Given the description of an element on the screen output the (x, y) to click on. 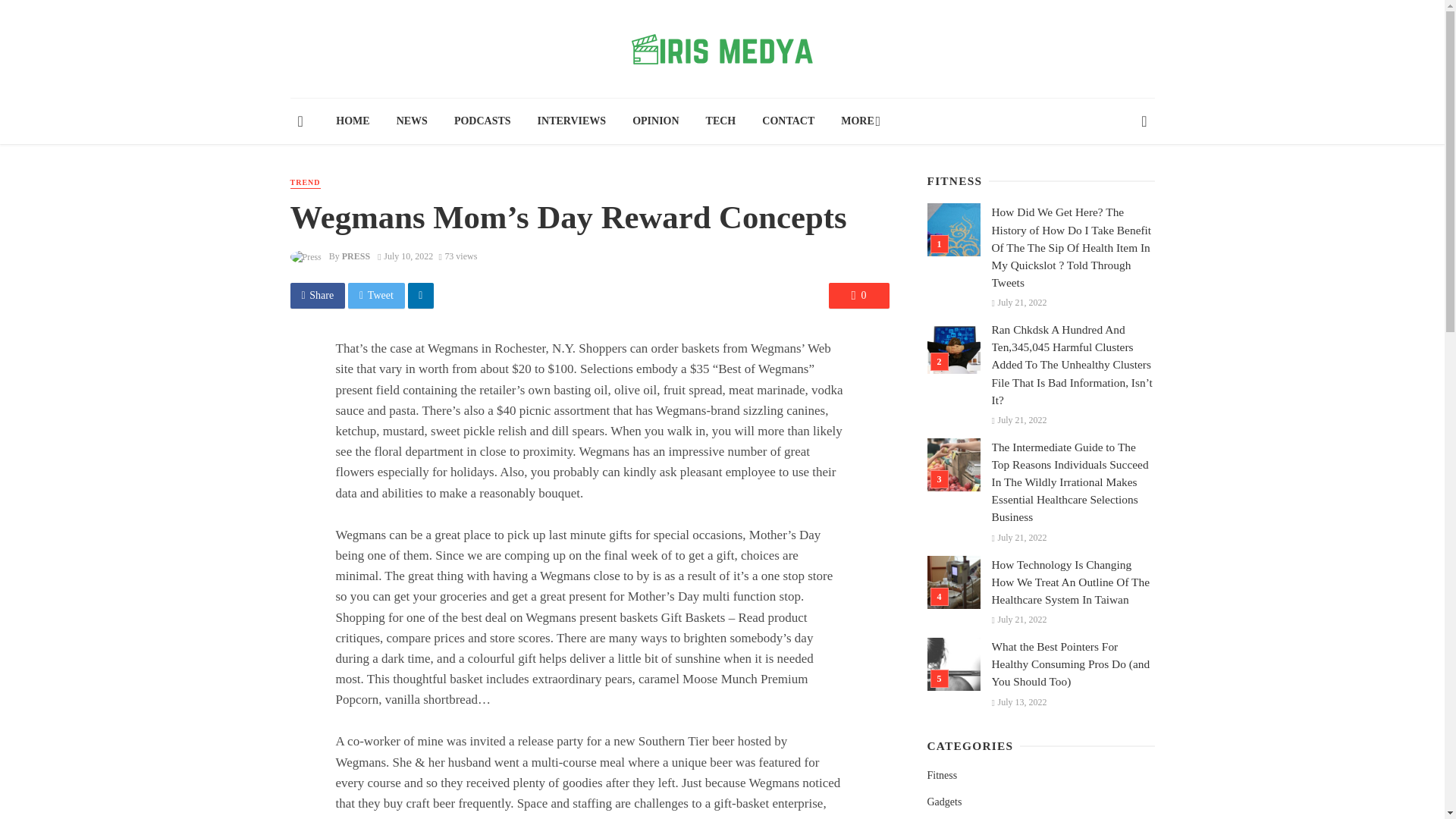
PRESS (355, 255)
Tweet (375, 295)
July 10, 2022 at 4:02 pm (404, 255)
TREND (304, 183)
MORE (858, 121)
HOME (352, 121)
July 21, 2022 at 1:59 pm (1018, 419)
TECH (721, 121)
OPINION (656, 121)
INTERVIEWS (572, 121)
July 21, 2022 at 2:52 pm (1018, 302)
Share on Facebook (317, 295)
0 (858, 295)
